Given the description of an element on the screen output the (x, y) to click on. 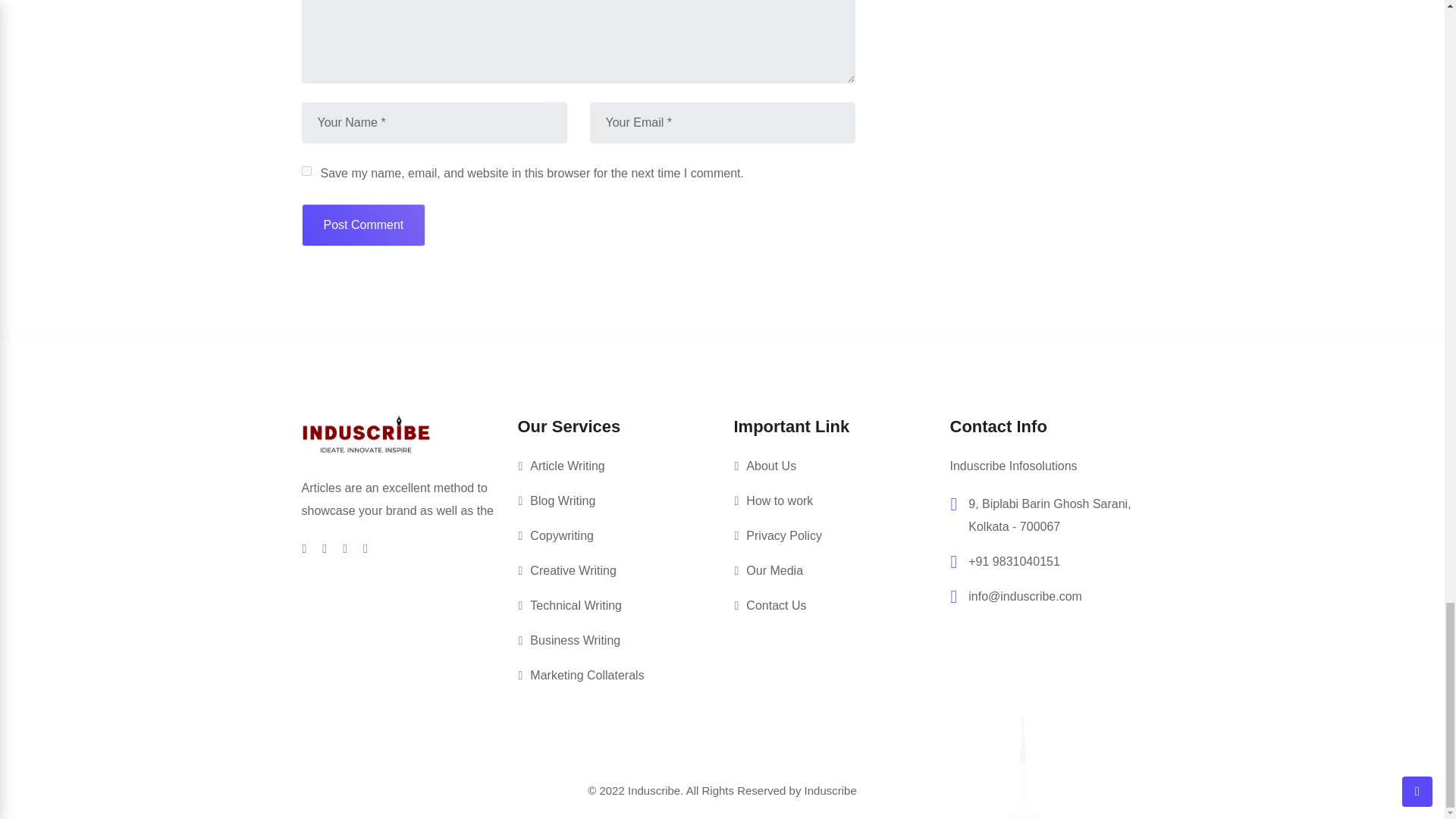
Post Comment (363, 224)
yes (306, 171)
